Given the description of an element on the screen output the (x, y) to click on. 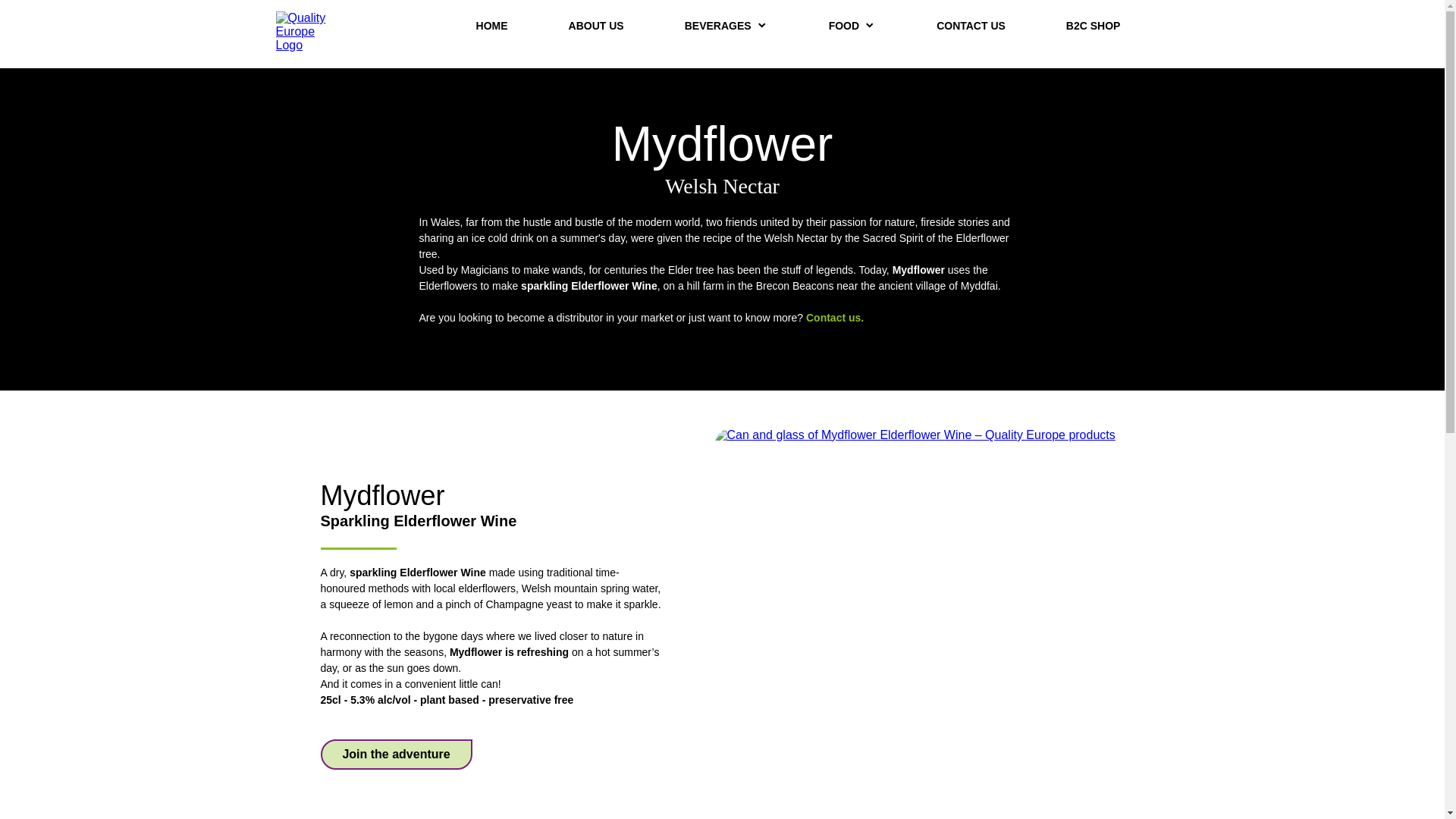
BEVERAGES (726, 25)
HOME (491, 25)
ABOUT US (596, 25)
FOOD (852, 25)
